Given the description of an element on the screen output the (x, y) to click on. 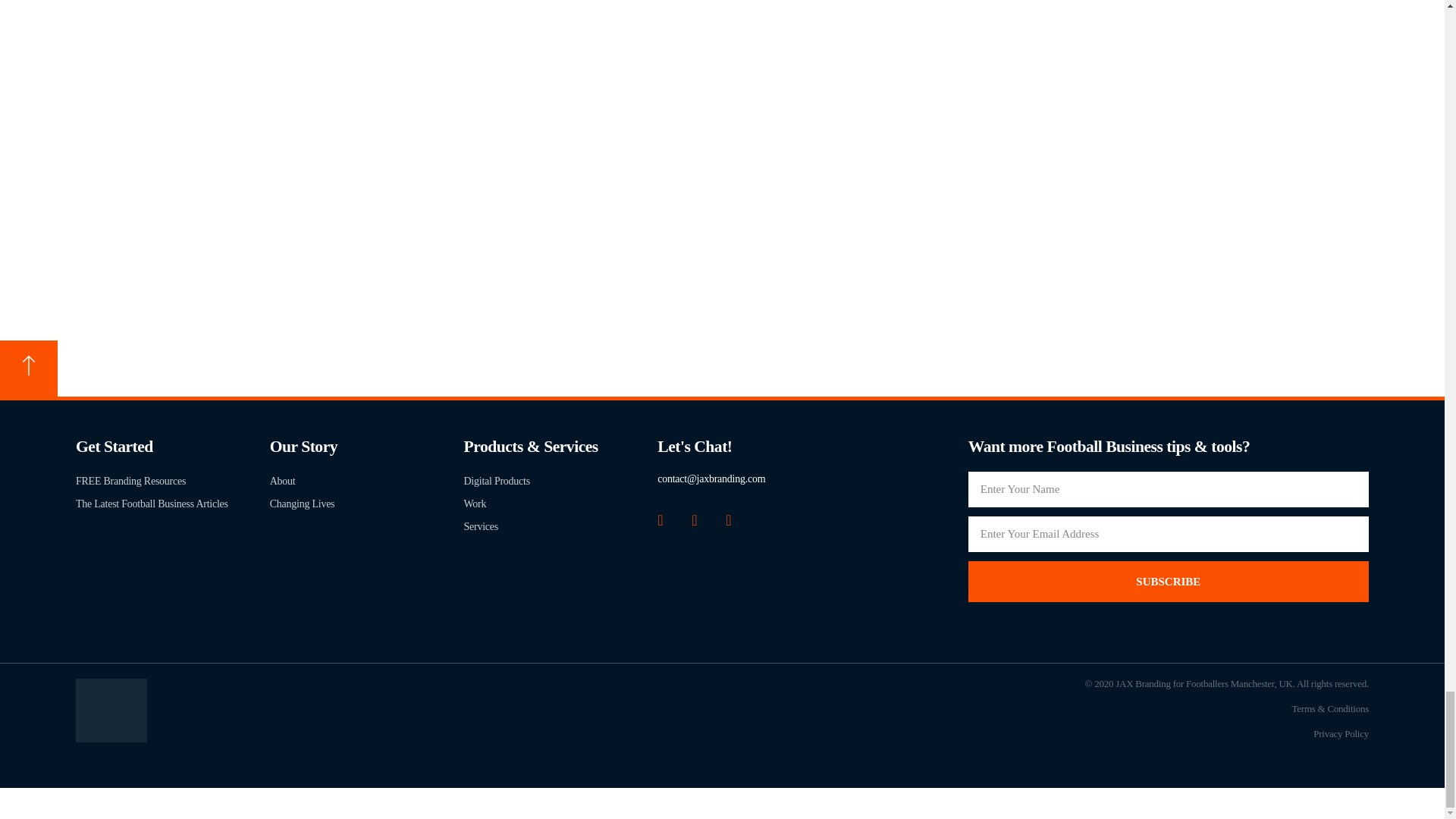
Changing Lives (366, 503)
Privacy Policy (1340, 733)
FREE Branding Resources (172, 480)
The Latest Football Business Articles (172, 503)
Work (561, 503)
Services (561, 526)
Digital Products (561, 480)
SUBSCRIBE (1168, 581)
About (366, 480)
